Given the description of an element on the screen output the (x, y) to click on. 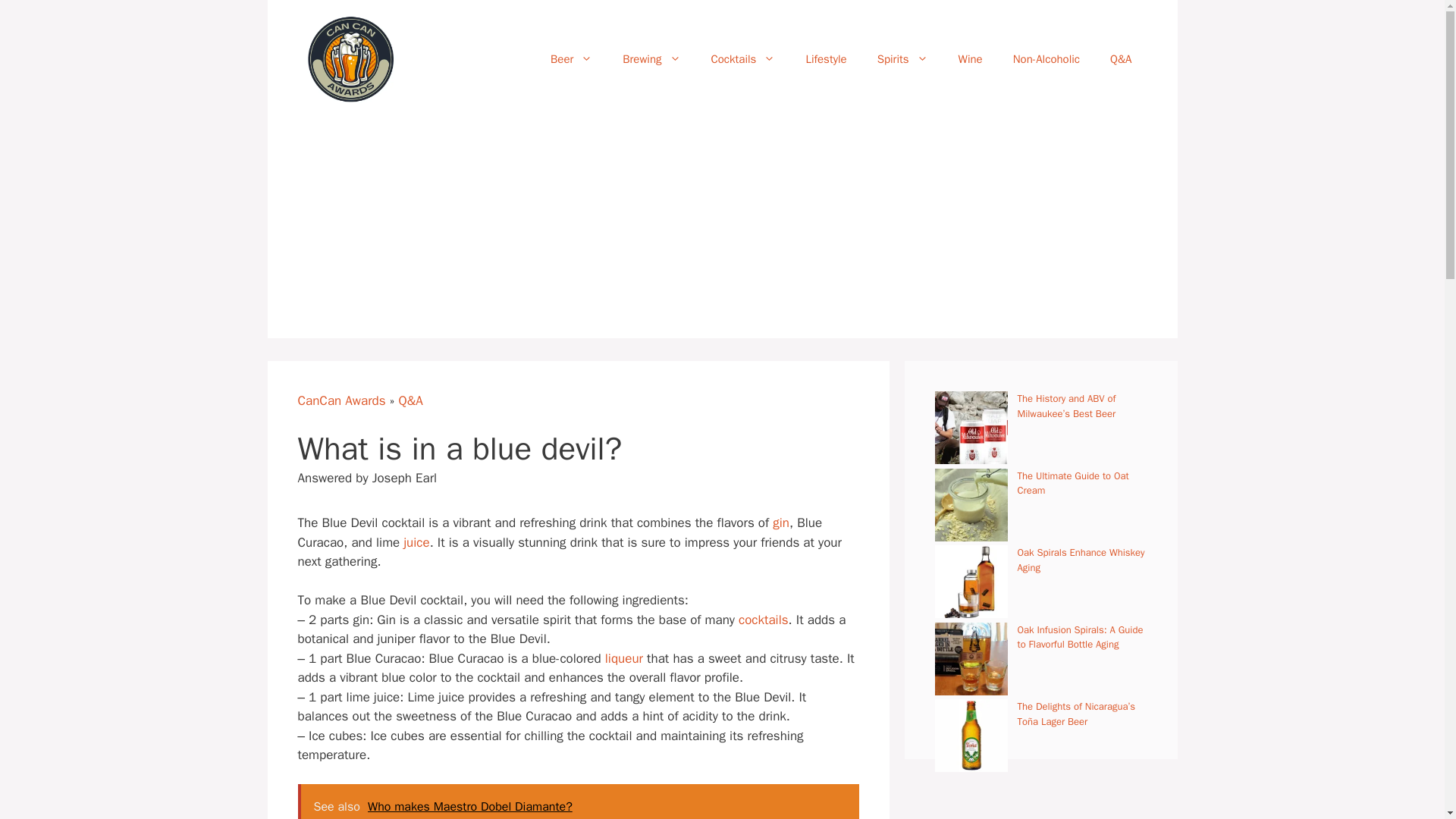
Lifestyle (825, 58)
Non-Alcoholic (1045, 58)
Cocktails (742, 58)
The History and ABV of Milwaukee's Best Beer 1 (970, 427)
Beer (571, 58)
Spirits (902, 58)
Oak Spirals Enhance Whiskey Aging 3 (970, 581)
Brewing (651, 58)
Wine (970, 58)
Oak Infusion Spirals: A Guide to Flavorful Bottle Aging 4 (970, 658)
The Ultimate Guide to Oat Cream 2 (970, 504)
